Given the description of an element on the screen output the (x, y) to click on. 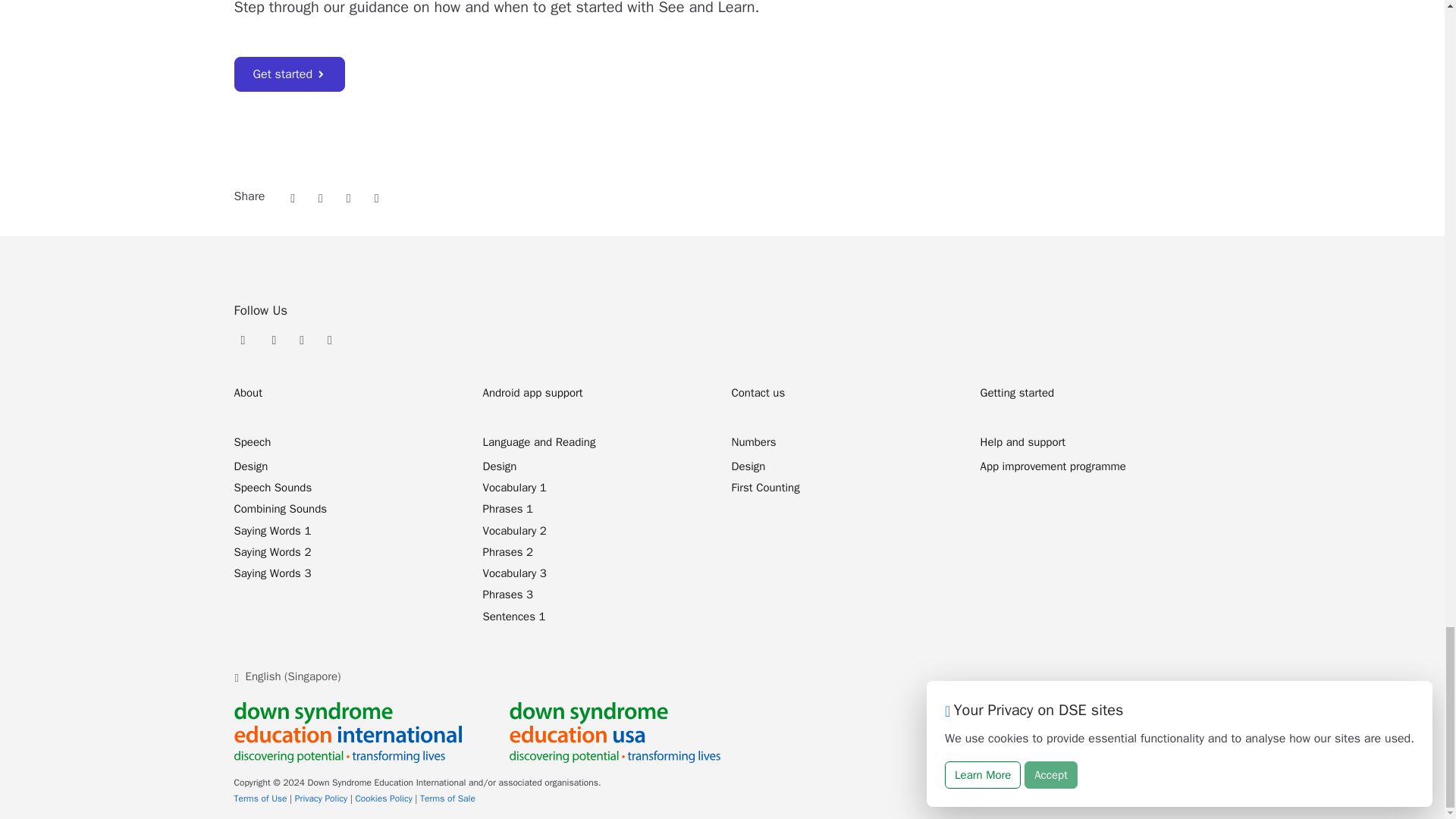
Android app support (531, 392)
Follow us on Facebook (301, 338)
About (247, 392)
Follow us on Twitter (273, 338)
Get started (288, 73)
Share on Facebook (348, 196)
Sign up for emails (244, 338)
Contact us (757, 392)
Share on LinkedIn (376, 196)
Share via email (292, 196)
Follow us on LinkedIn (329, 338)
Share on Twitter (320, 196)
